Given the description of an element on the screen output the (x, y) to click on. 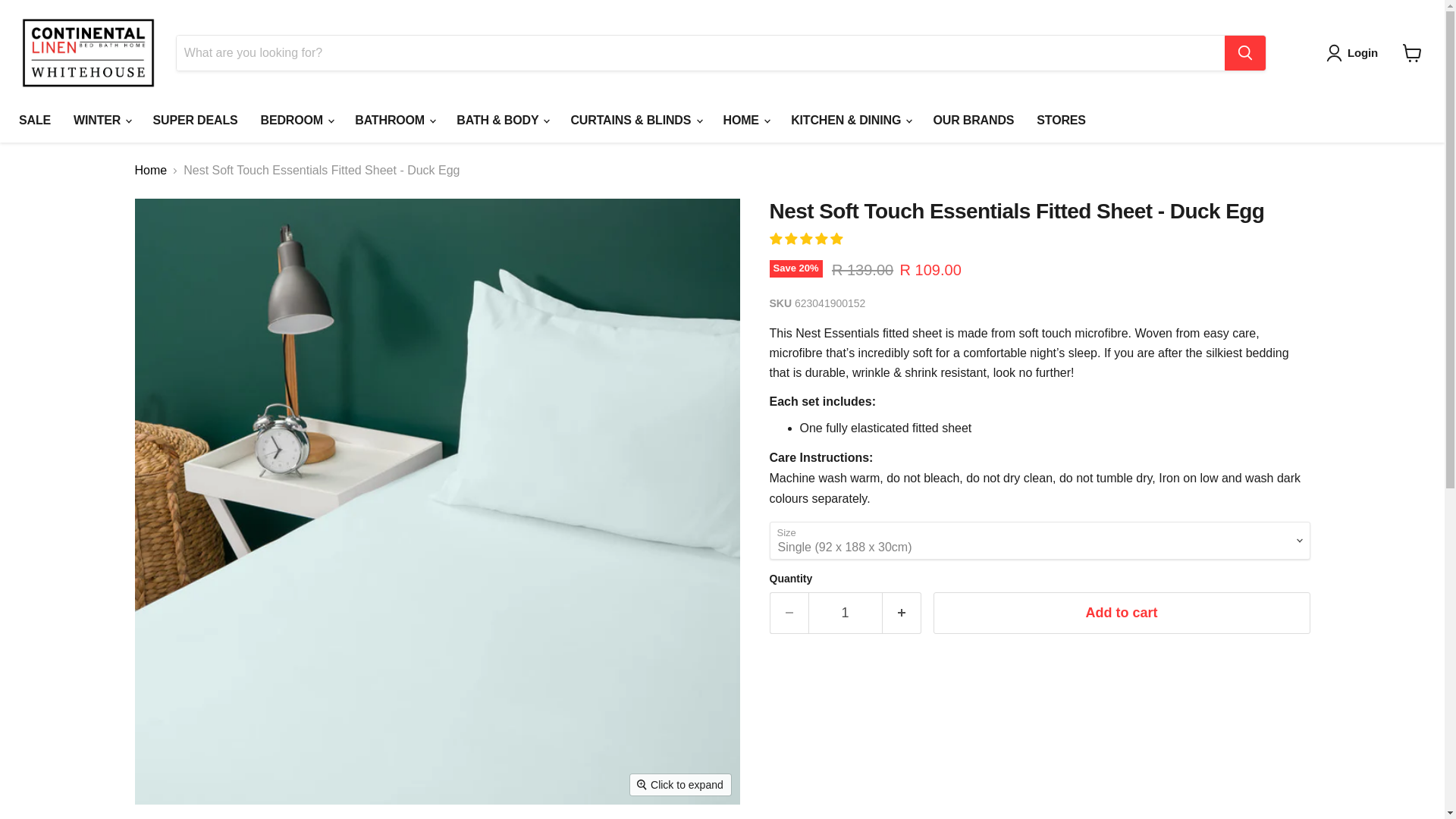
SALE (34, 120)
SUPER DEALS (194, 120)
View cart (1411, 52)
Login (1355, 53)
1 (845, 612)
